Given the description of an element on the screen output the (x, y) to click on. 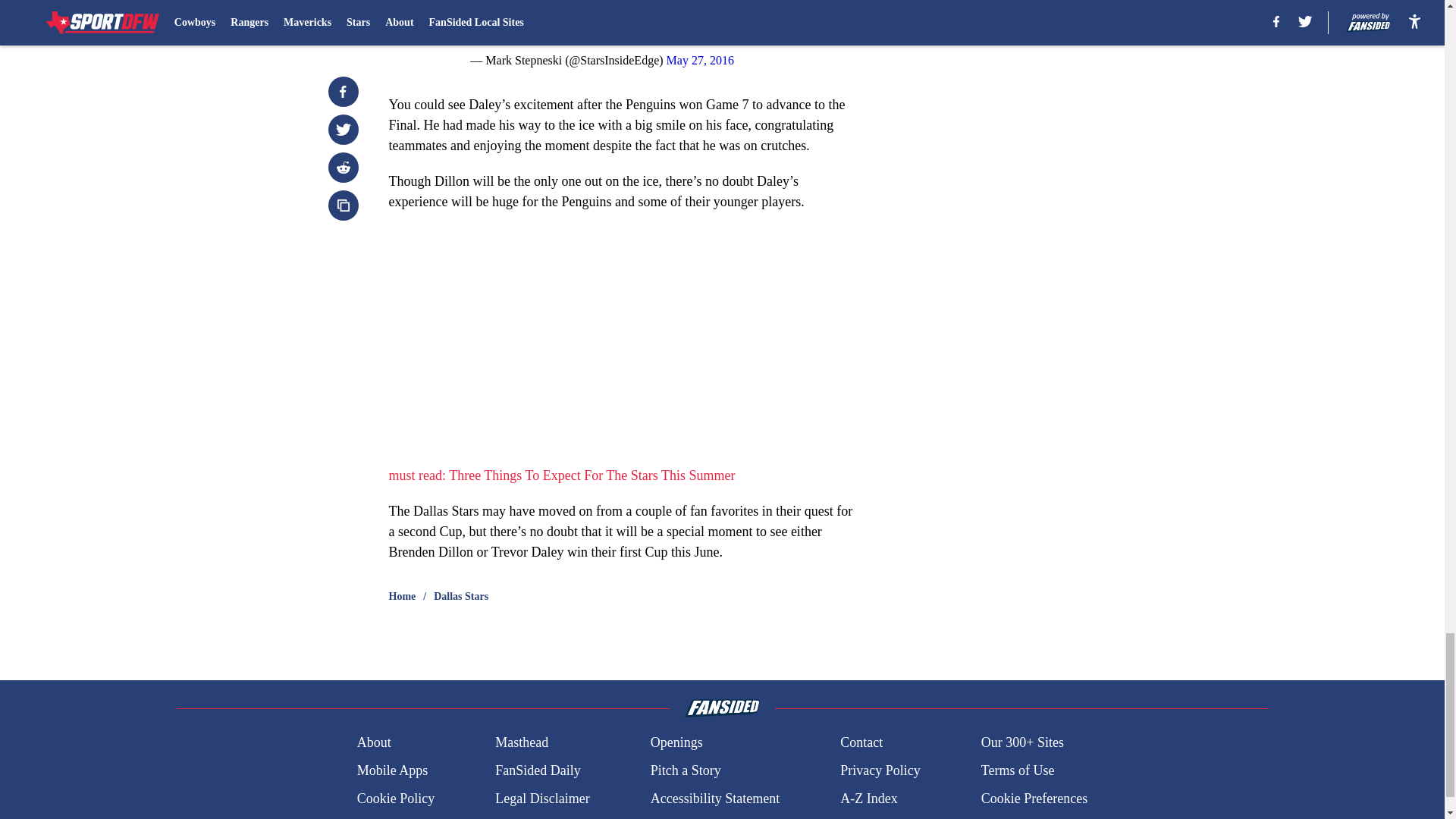
Dallas Stars (460, 596)
About (373, 742)
must read: Three Things To Expect For The Stars This Summer (561, 475)
Openings (676, 742)
Masthead (521, 742)
Home (401, 596)
May 27, 2016 (699, 60)
